Given the description of an element on the screen output the (x, y) to click on. 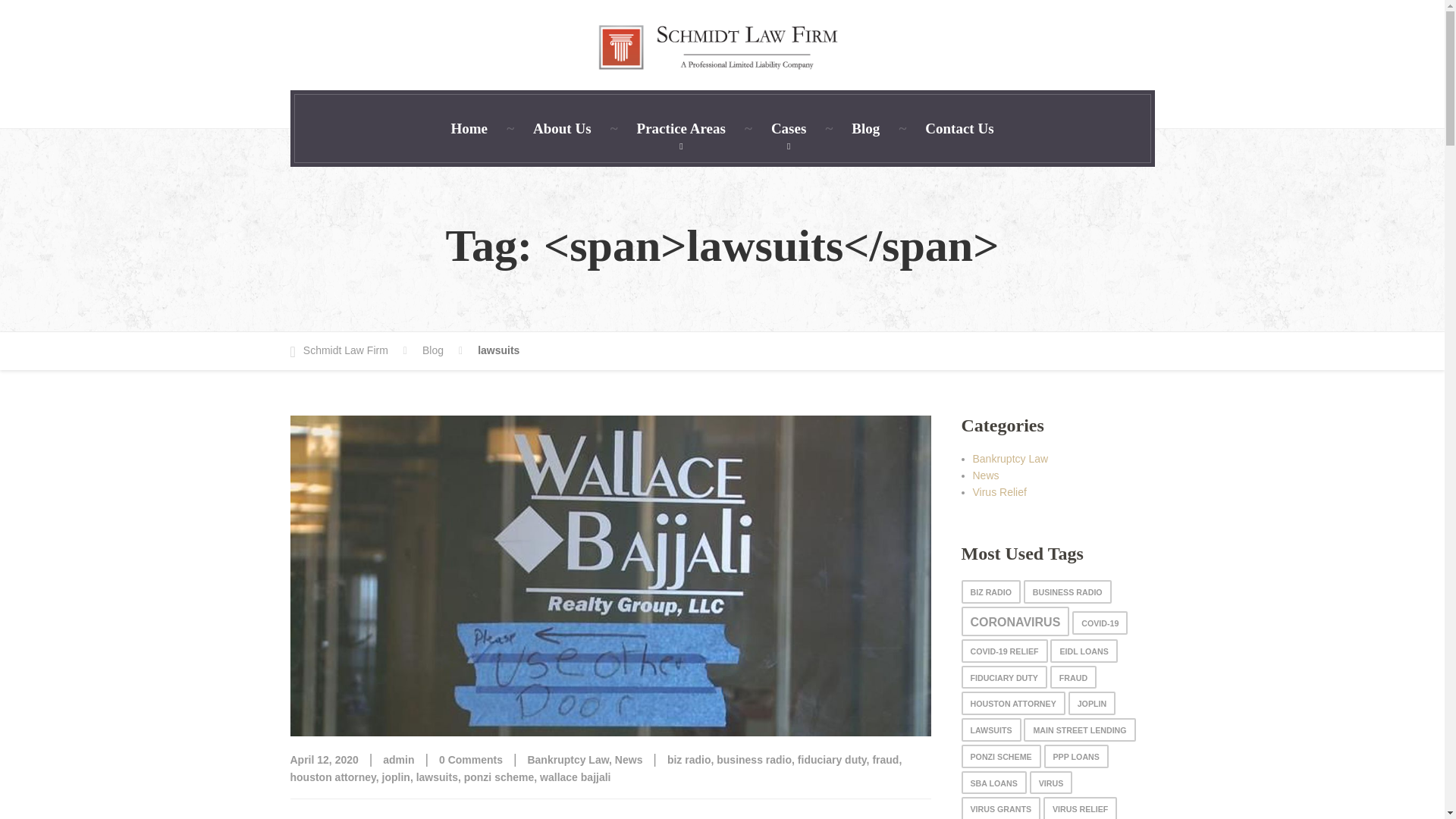
Go to Schmidt Law Firm. (347, 351)
Blog (865, 128)
Blog (442, 351)
Contact Us (959, 128)
biz radio (688, 759)
Go to Blog. (442, 351)
Schmidt Law Firm (347, 351)
BIZ RADIO (990, 591)
CORONAVIRUS (1015, 621)
News (628, 759)
Virus Relief (999, 491)
Home (469, 128)
Cases (788, 128)
About Us (562, 128)
Practice Areas (681, 128)
